Given the description of an element on the screen output the (x, y) to click on. 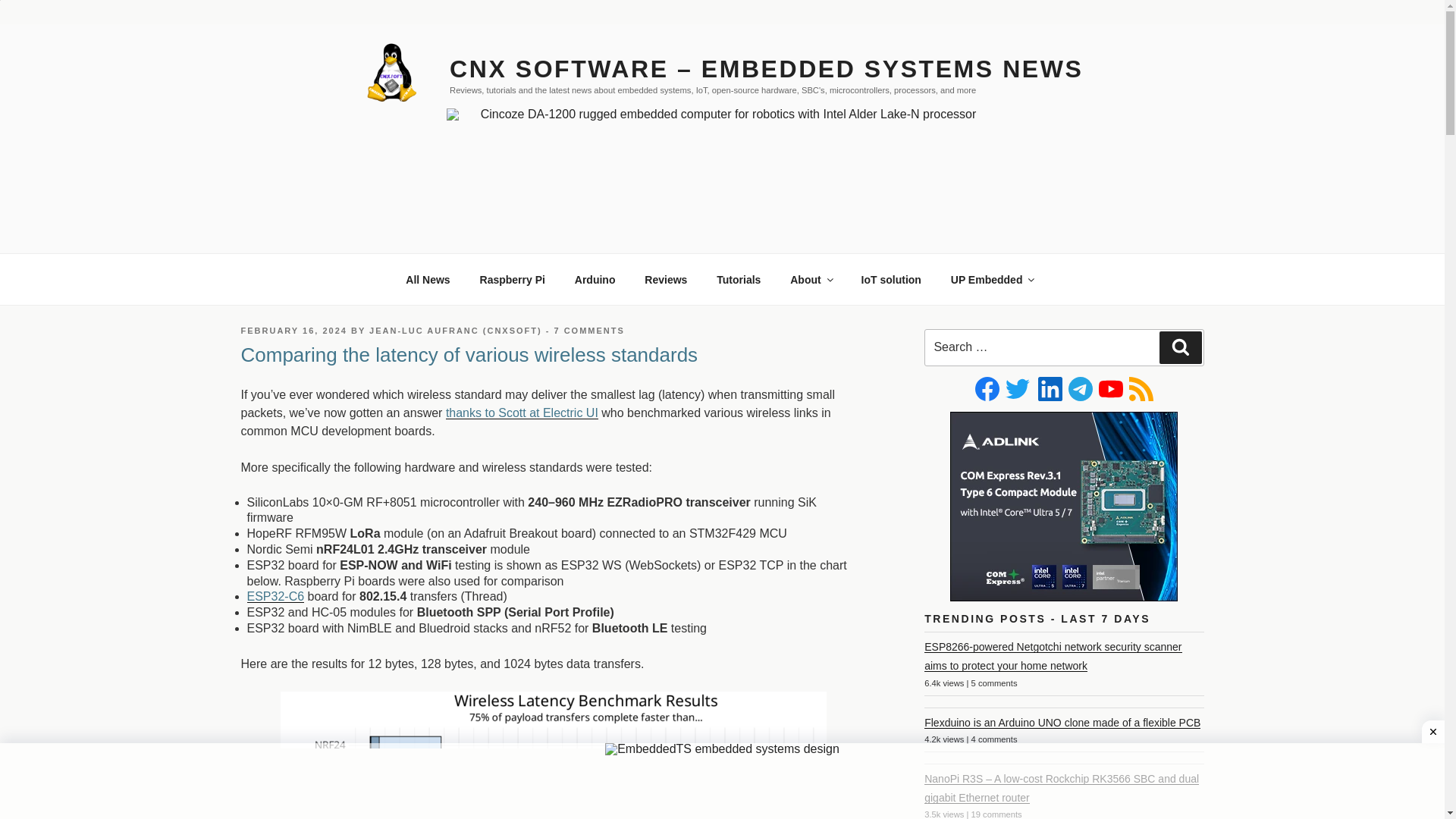
Tutorials (738, 279)
Reviews (665, 279)
About (810, 279)
Twitter (1017, 388)
All News (428, 279)
Check out embedded systems and SBCs from our sponsor (991, 279)
YouTube (1110, 388)
Facebook (986, 388)
Wireless Latency (554, 755)
LinkedIn (1050, 388)
